Given the description of an element on the screen output the (x, y) to click on. 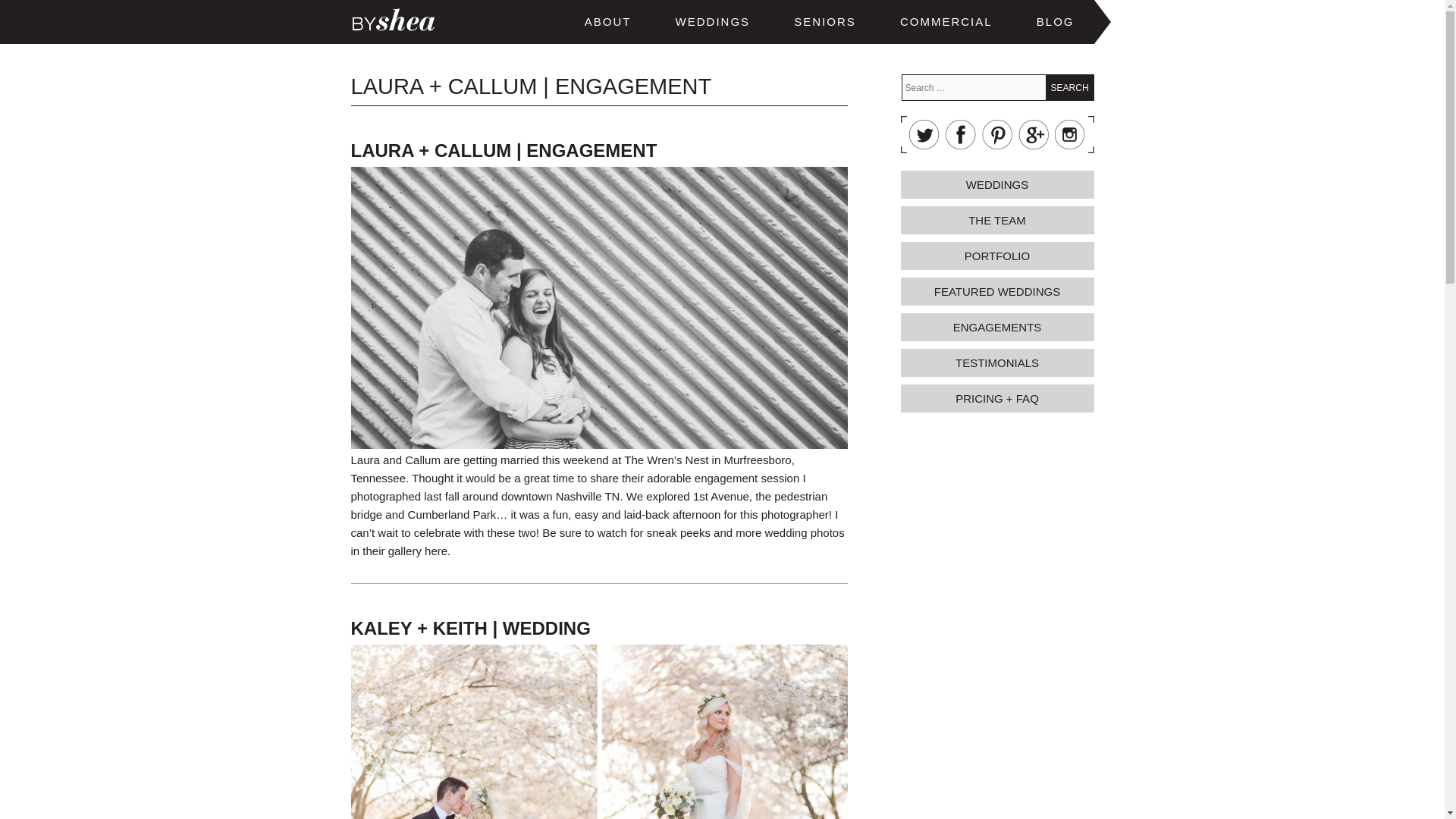
Search (1069, 87)
ABOUT (607, 21)
SENIORS (825, 21)
Search (1069, 87)
WEDDINGS (713, 21)
COMMERCIAL (945, 21)
